Given the description of an element on the screen output the (x, y) to click on. 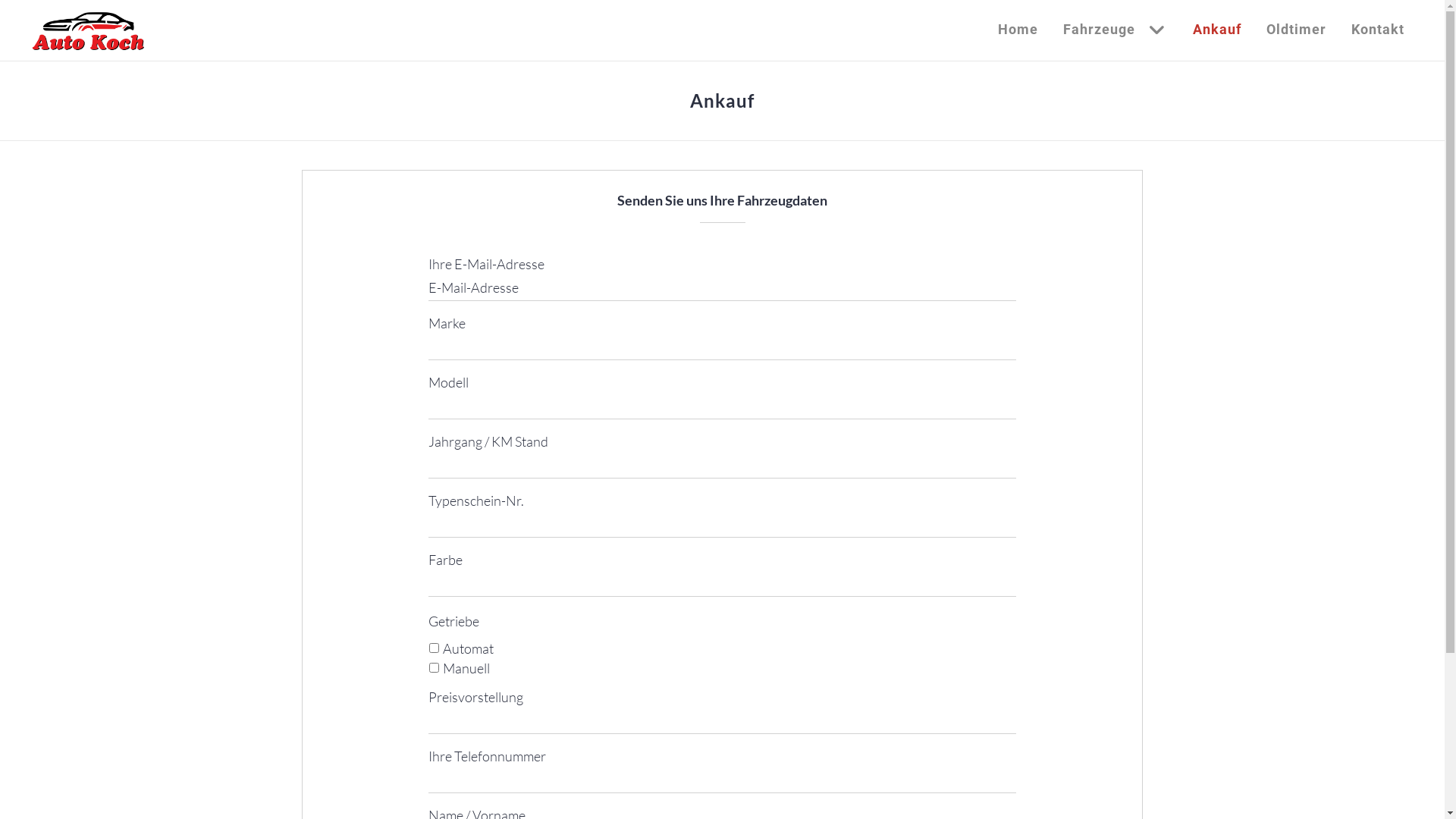
logo Element type: hover (87, 30)
Typenschein-Nr. Element type: hover (722, 524)
Modell Element type: hover (722, 405)
Preisvorstellung Element type: hover (722, 720)
Kontakt Element type: text (1377, 29)
Home Element type: text (1017, 29)
Oldtimer Element type: text (1296, 29)
Farbe Element type: hover (722, 583)
Jahrgang / KM Stand Element type: hover (722, 464)
Ankauf Element type: text (1216, 29)
Ihre Telefonnummer Element type: hover (722, 779)
Marke Element type: hover (722, 346)
